Given the description of an element on the screen output the (x, y) to click on. 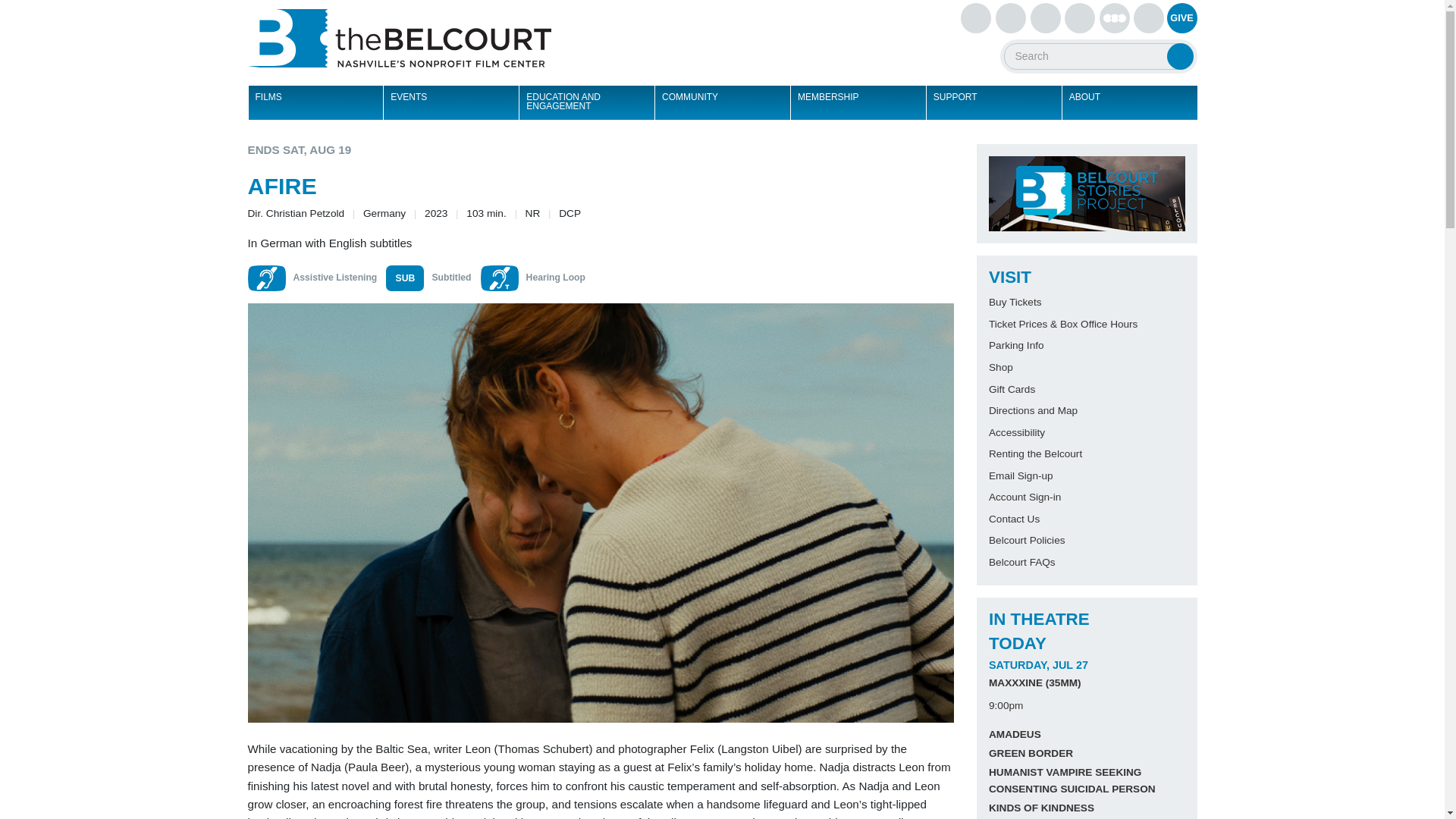
EDUCATION AND ENGAGEMENT (585, 102)
SUPPORT (993, 102)
Search (1179, 56)
MEMBERSHIP (858, 102)
COMMUNITY (721, 102)
FILMS (314, 102)
Share on Facebook (864, 155)
GIVE (1181, 18)
Email (916, 155)
Print (942, 155)
Tweet (890, 155)
The Belcourt Theatre (398, 38)
EVENTS (450, 102)
Letterboxd (1114, 18)
